Given the description of an element on the screen output the (x, y) to click on. 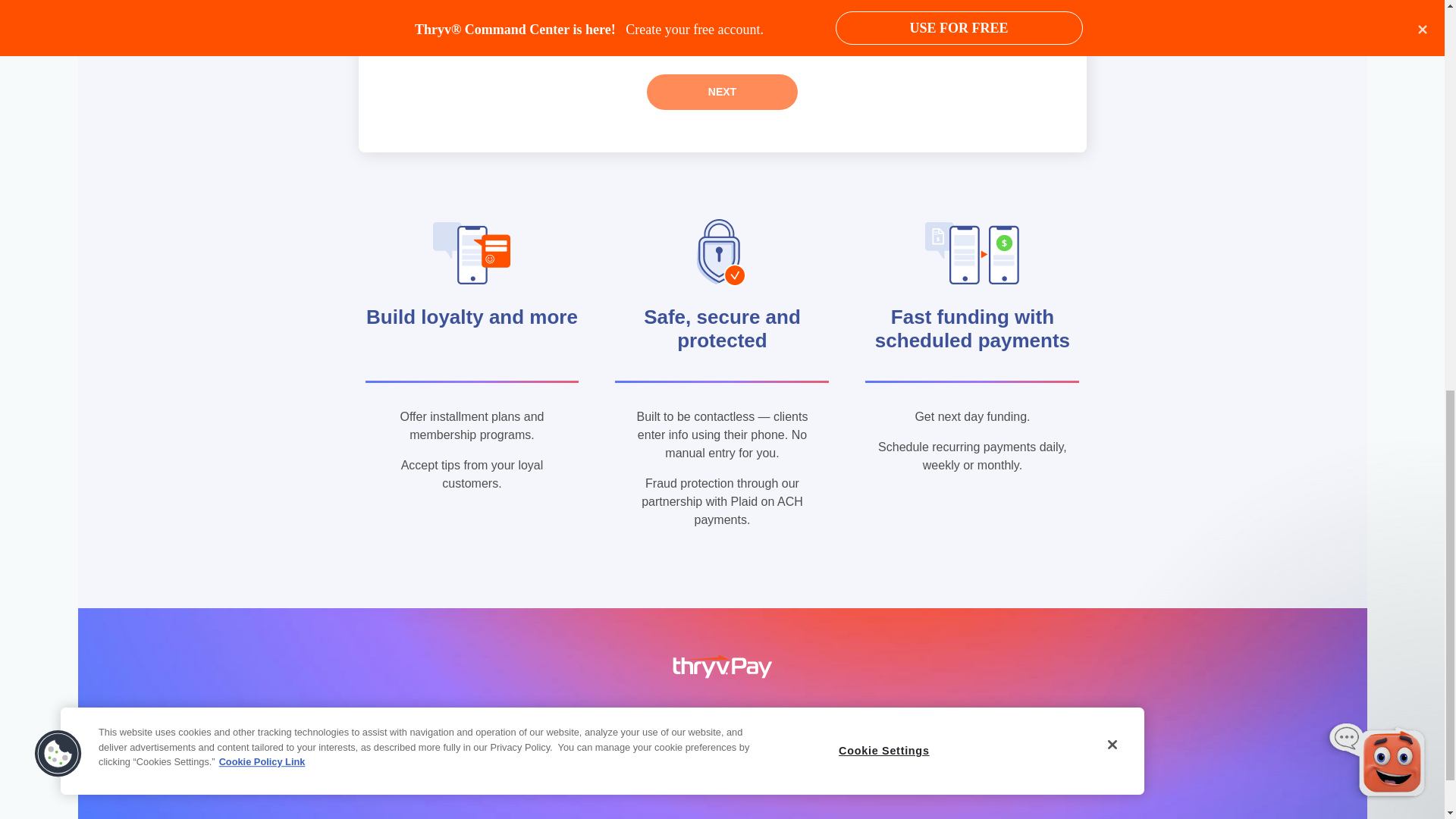
Next (721, 91)
Mindbody (440, 8)
PayPal (440, 33)
NoSolution (639, 8)
UnlistedSolution (639, 33)
